Given the description of an element on the screen output the (x, y) to click on. 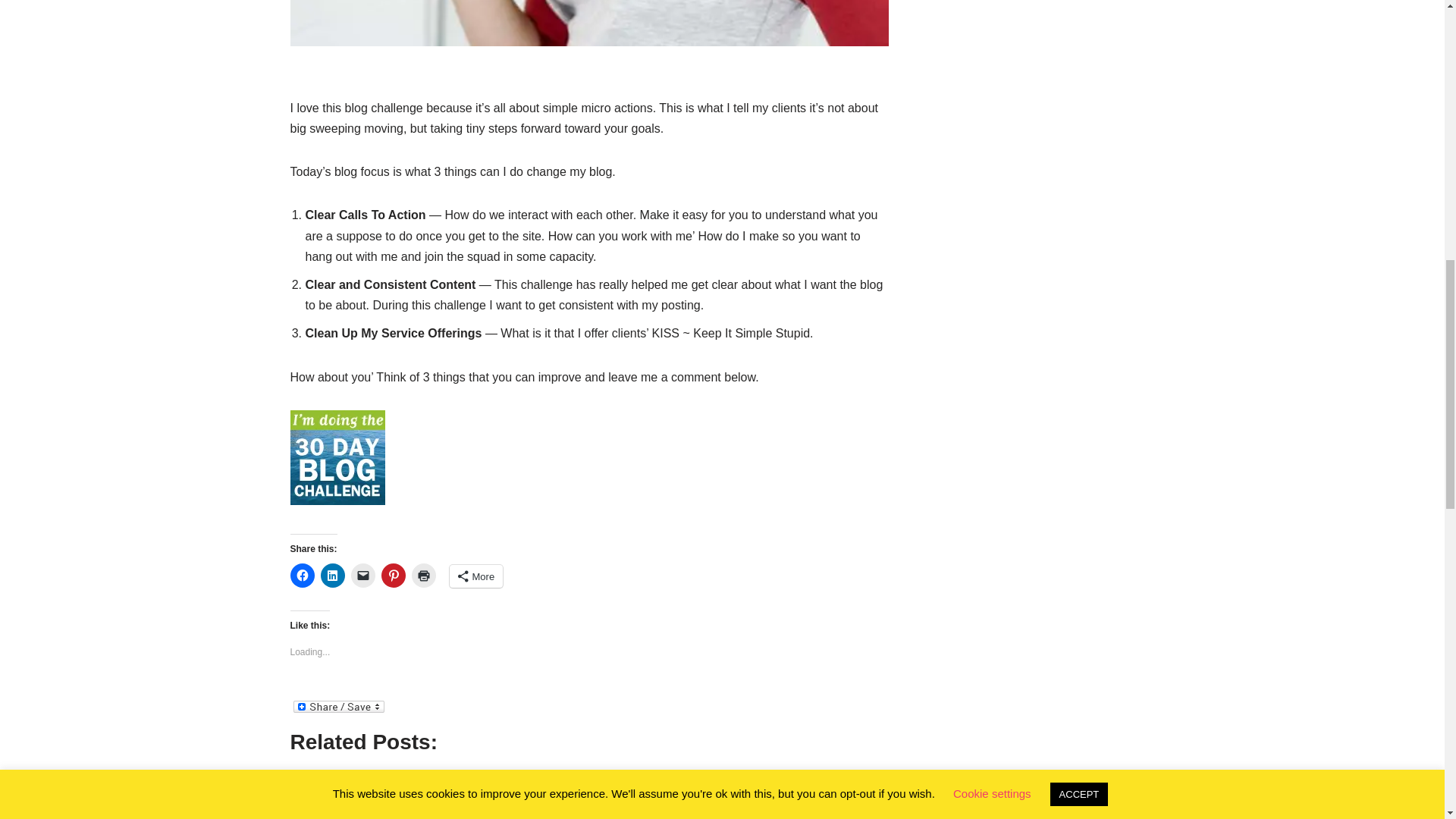
Click to share on Pinterest (392, 575)
Click to share on LinkedIn (331, 575)
Are You Ready To Improve Your Sex Life (414, 789)
Click to email a link to a friend (362, 575)
Click to print (422, 575)
More (475, 576)
Click to share on Facebook (301, 575)
Are you looking to improve your brain fog? (418, 815)
